Given the description of an element on the screen output the (x, y) to click on. 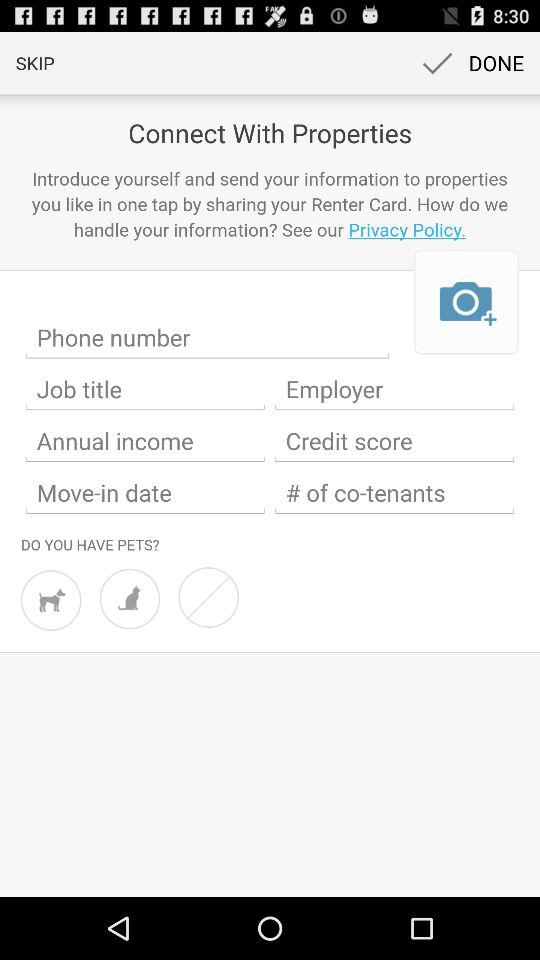
do you have a dog (51, 600)
